Given the description of an element on the screen output the (x, y) to click on. 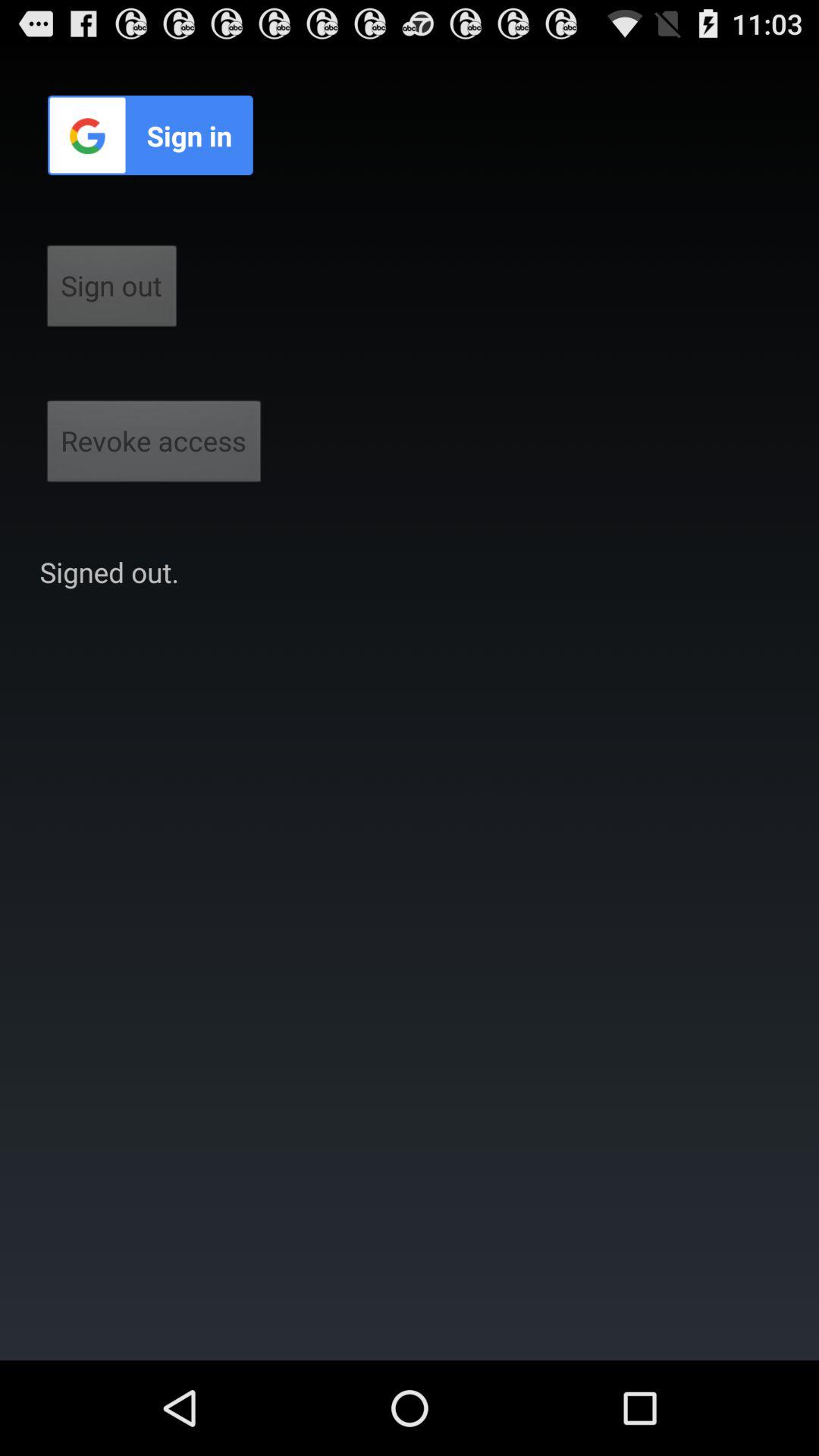
open sign out button (111, 290)
